Given the description of an element on the screen output the (x, y) to click on. 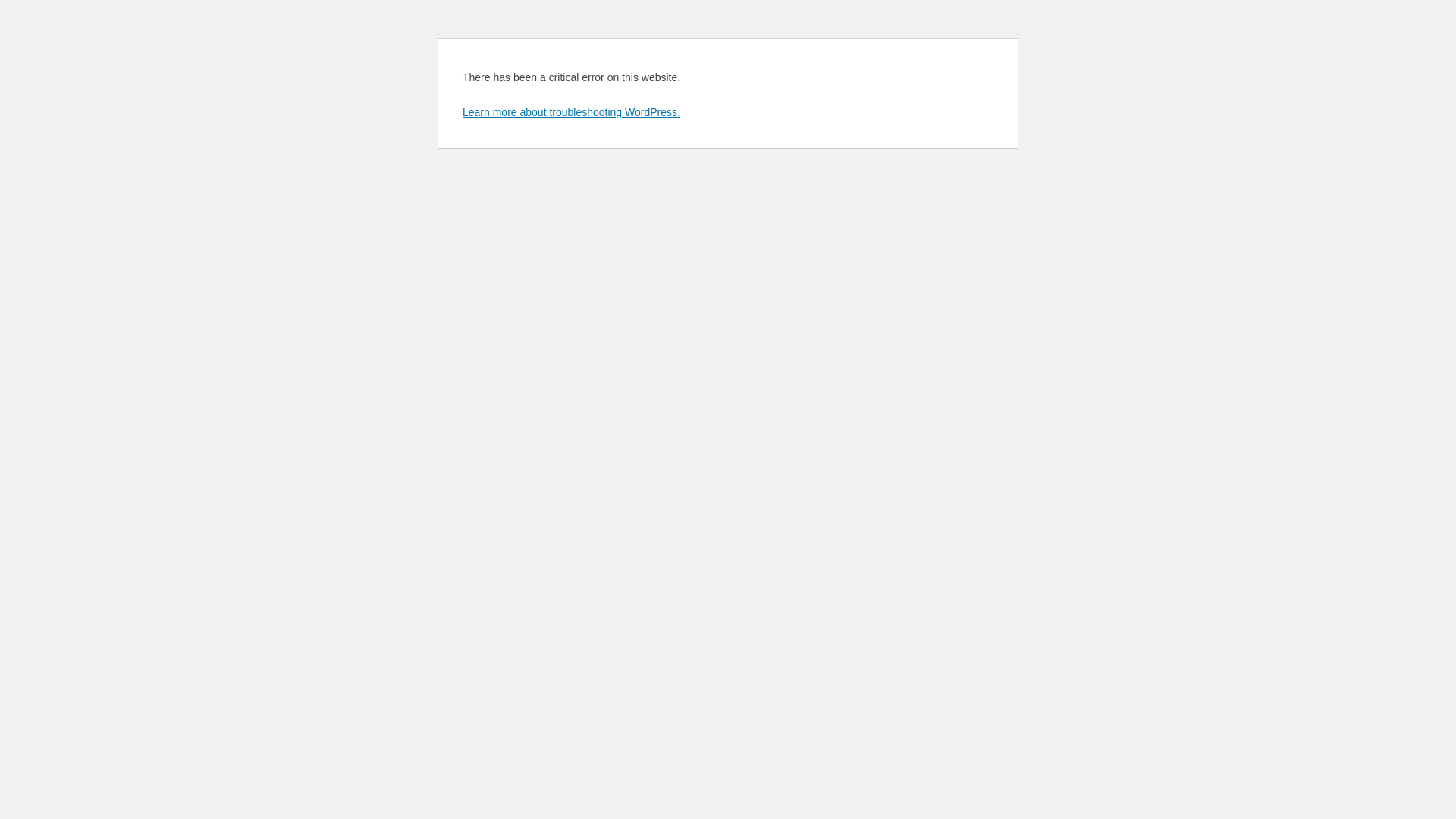
Learn more about troubleshooting WordPress. Element type: text (571, 112)
